Given the description of an element on the screen output the (x, y) to click on. 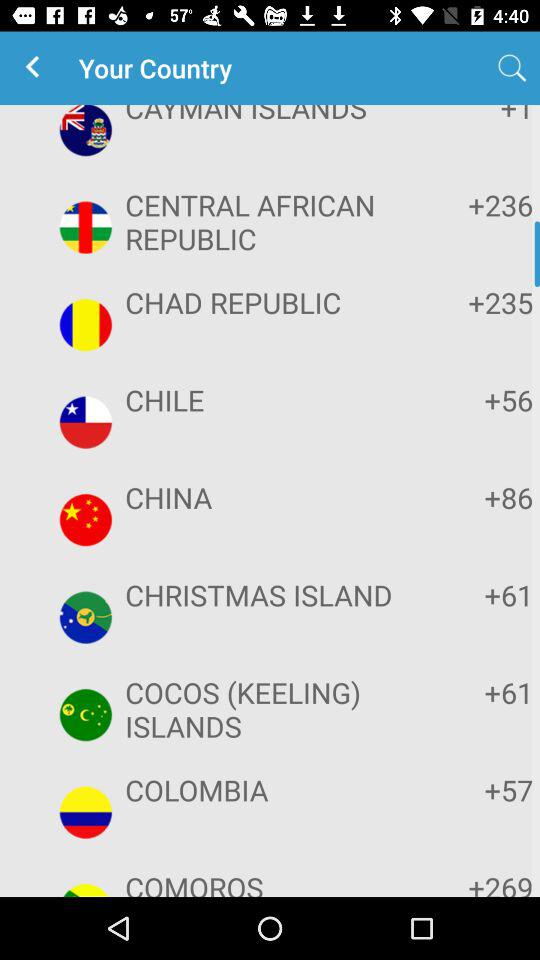
launch item to the left of your country app (36, 68)
